Given the description of an element on the screen output the (x, y) to click on. 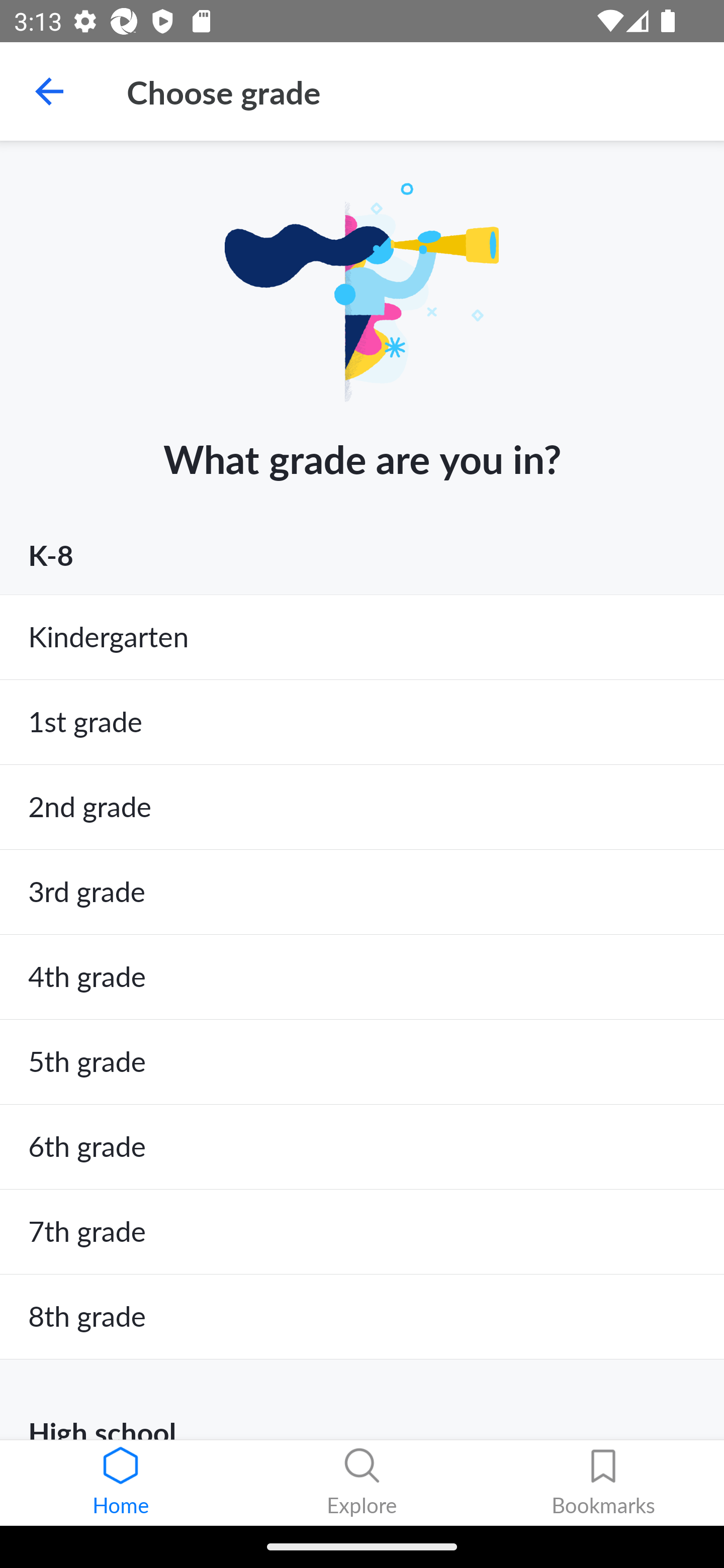
Navigate up (49, 91)
Kindergarten (362, 637)
1st grade (362, 722)
2nd grade (362, 807)
3rd grade (362, 891)
4th grade (362, 976)
5th grade (362, 1061)
6th grade (362, 1146)
7th grade (362, 1232)
8th grade (362, 1316)
Home (120, 1482)
Explore (361, 1482)
Bookmarks (603, 1482)
